Given the description of an element on the screen output the (x, y) to click on. 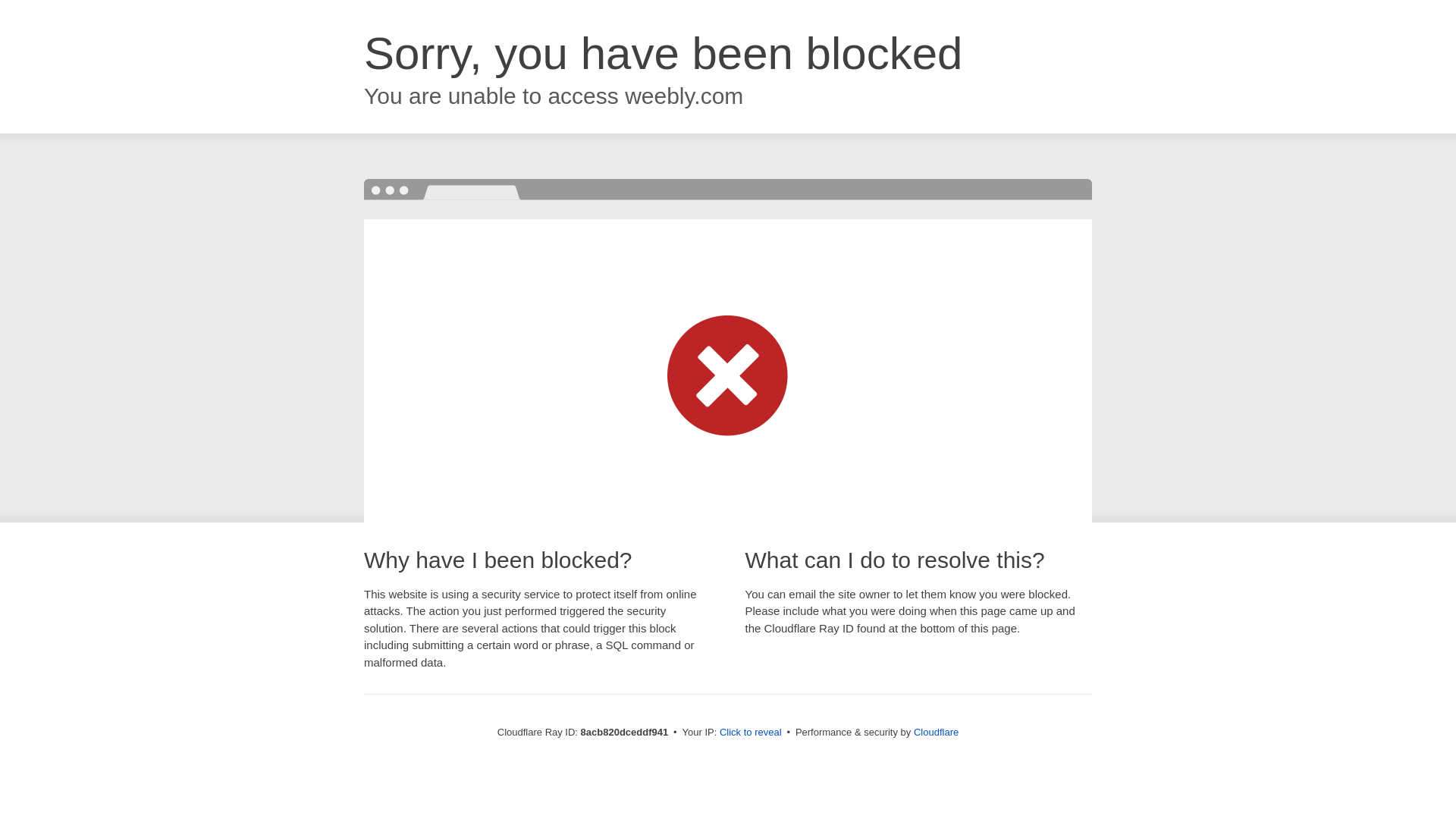
Click to reveal (750, 732)
Cloudflare (936, 731)
